Given the description of an element on the screen output the (x, y) to click on. 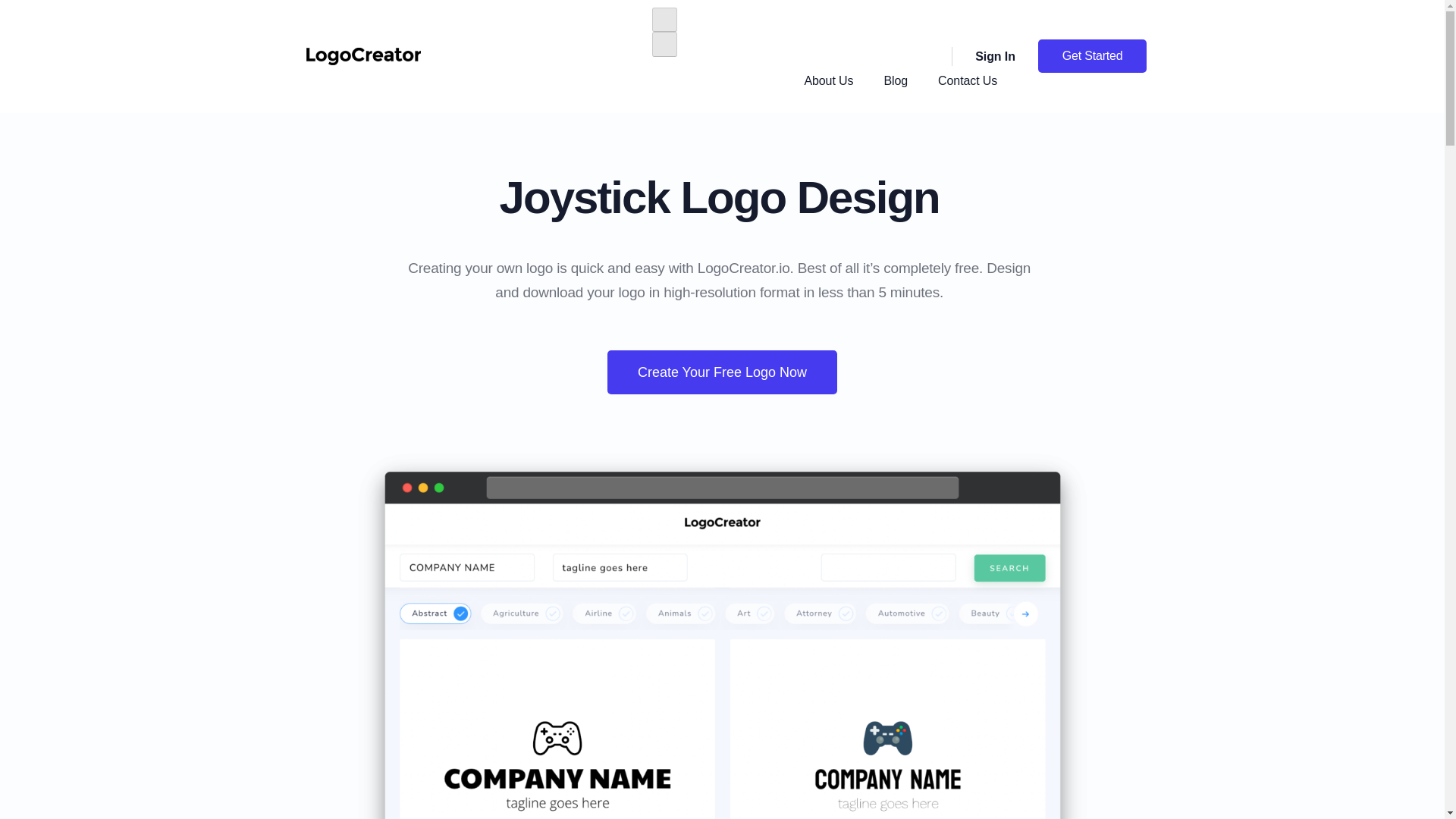
Get Started (1092, 55)
Contact Us (967, 80)
About Us (828, 80)
Sign In (983, 56)
Blog (895, 80)
